Given the description of an element on the screen output the (x, y) to click on. 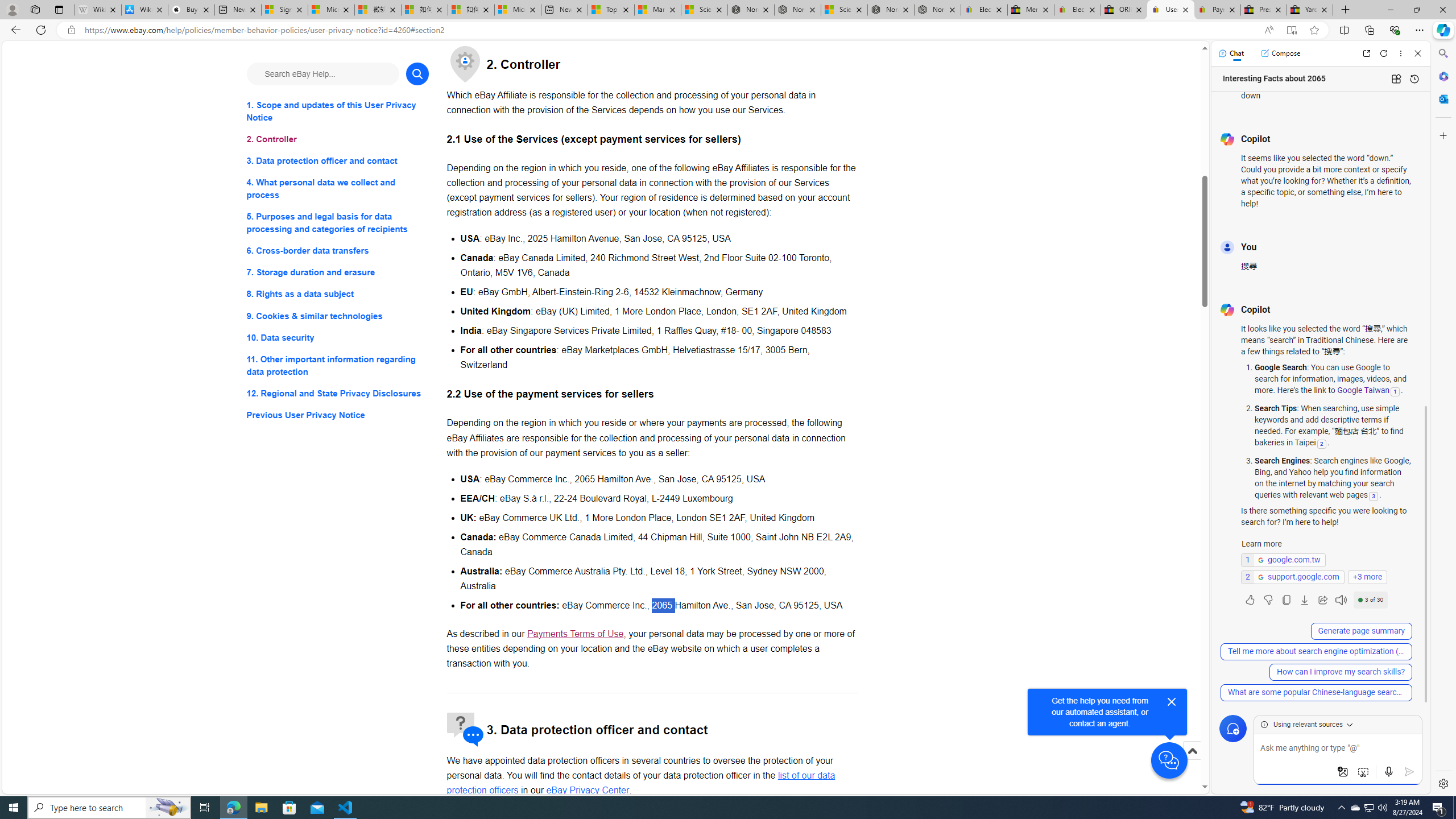
Close tab (1324, 9)
7. Storage duration and erasure (337, 272)
1. Scope and updates of this User Privacy Notice (337, 111)
12. Regional and State Privacy Disclosures (337, 392)
Microsoft account | Account Checkup (517, 9)
4. What personal data we collect and process (337, 189)
Settings (1442, 783)
Yard, Garden & Outdoor Living (1309, 9)
9. Cookies & similar technologies (337, 315)
Add this page to favorites (Ctrl+D) (1314, 29)
App bar (728, 29)
